Given the description of an element on the screen output the (x, y) to click on. 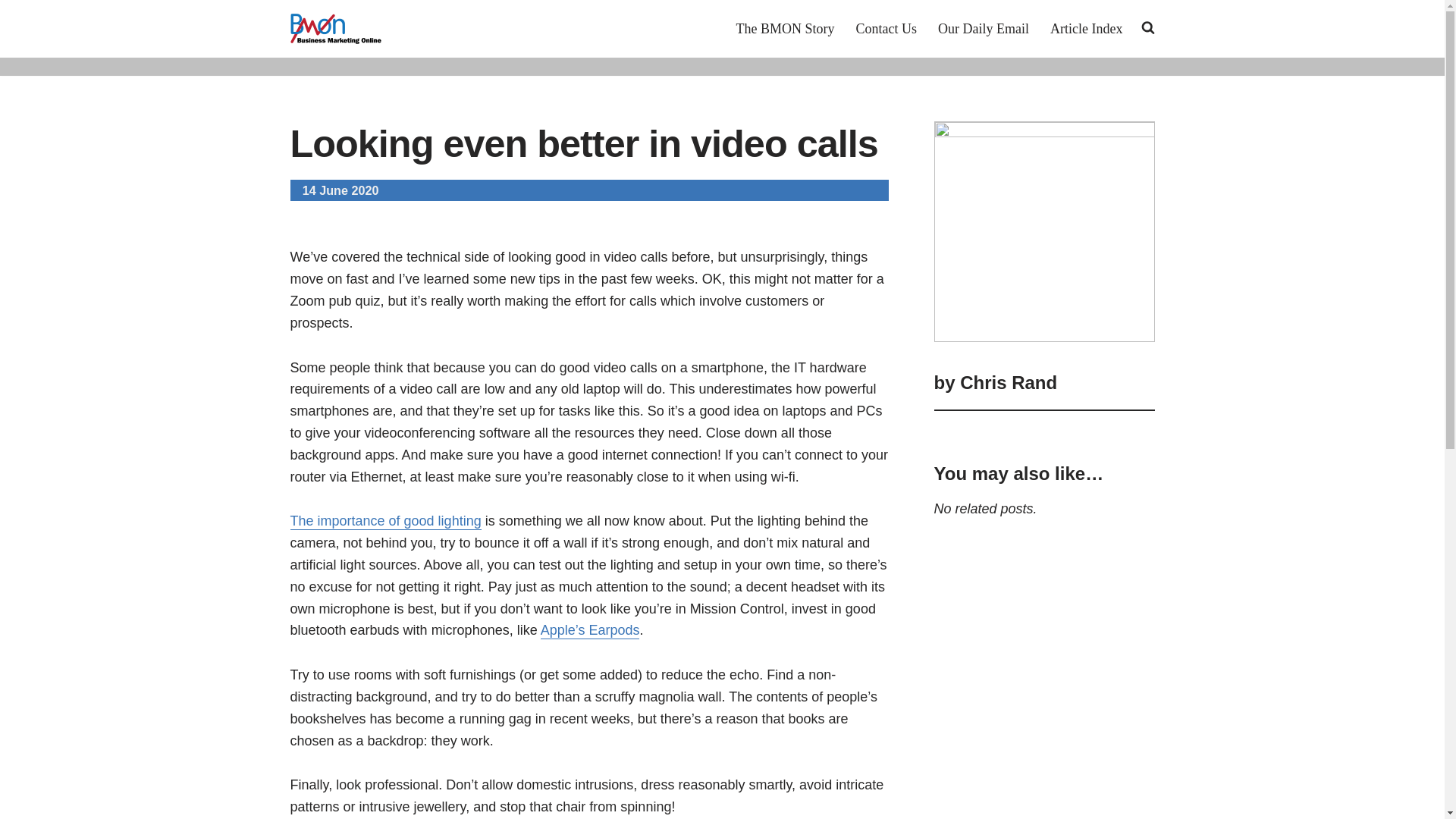
The BMON Story (785, 28)
Skip to content (11, 31)
Our Daily Email (983, 28)
The importance of good lighting (384, 521)
Contact Us (886, 28)
Article Index (1085, 28)
